Given the description of an element on the screen output the (x, y) to click on. 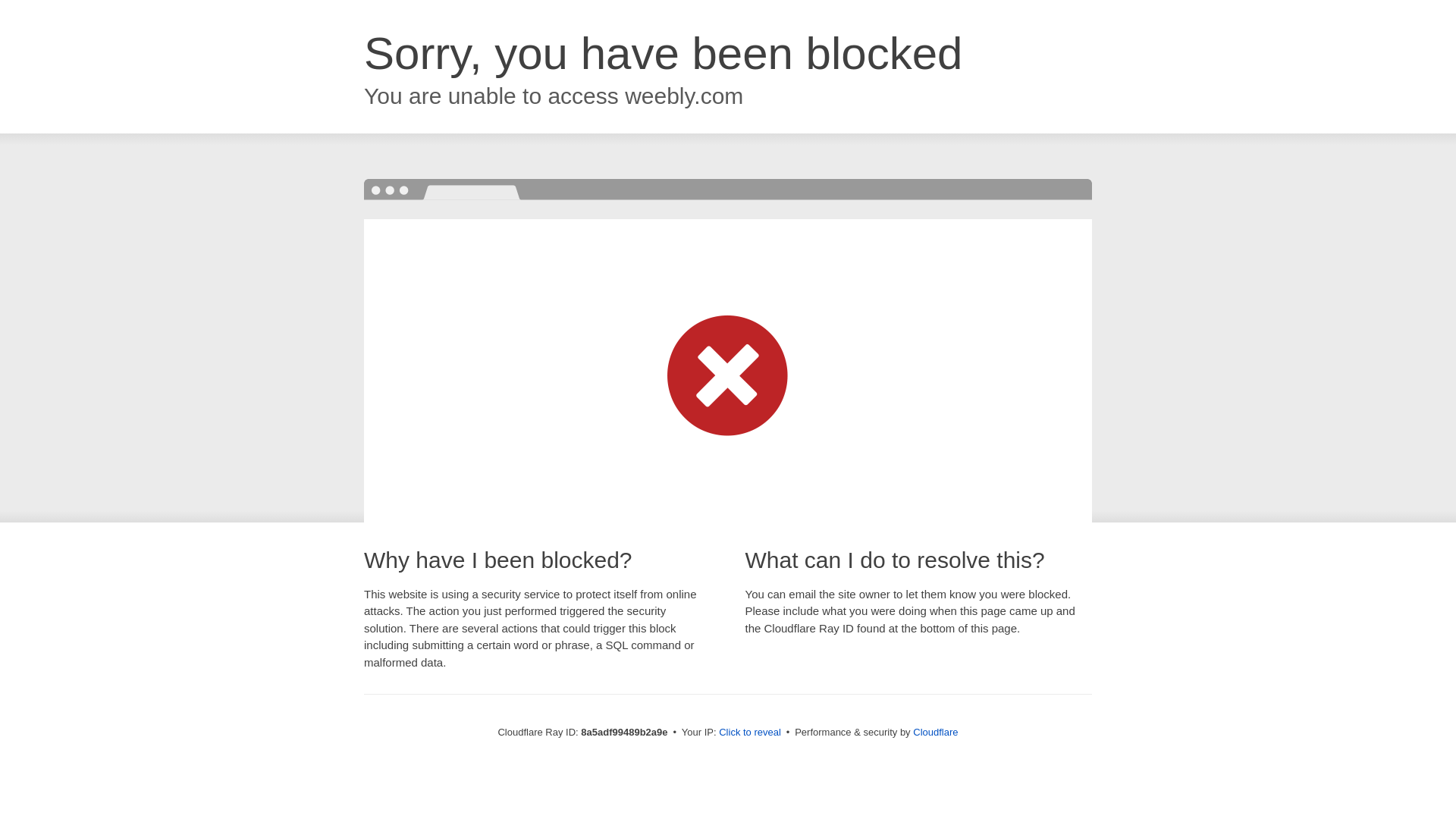
Click to reveal (749, 732)
Cloudflare (935, 731)
